Given the description of an element on the screen output the (x, y) to click on. 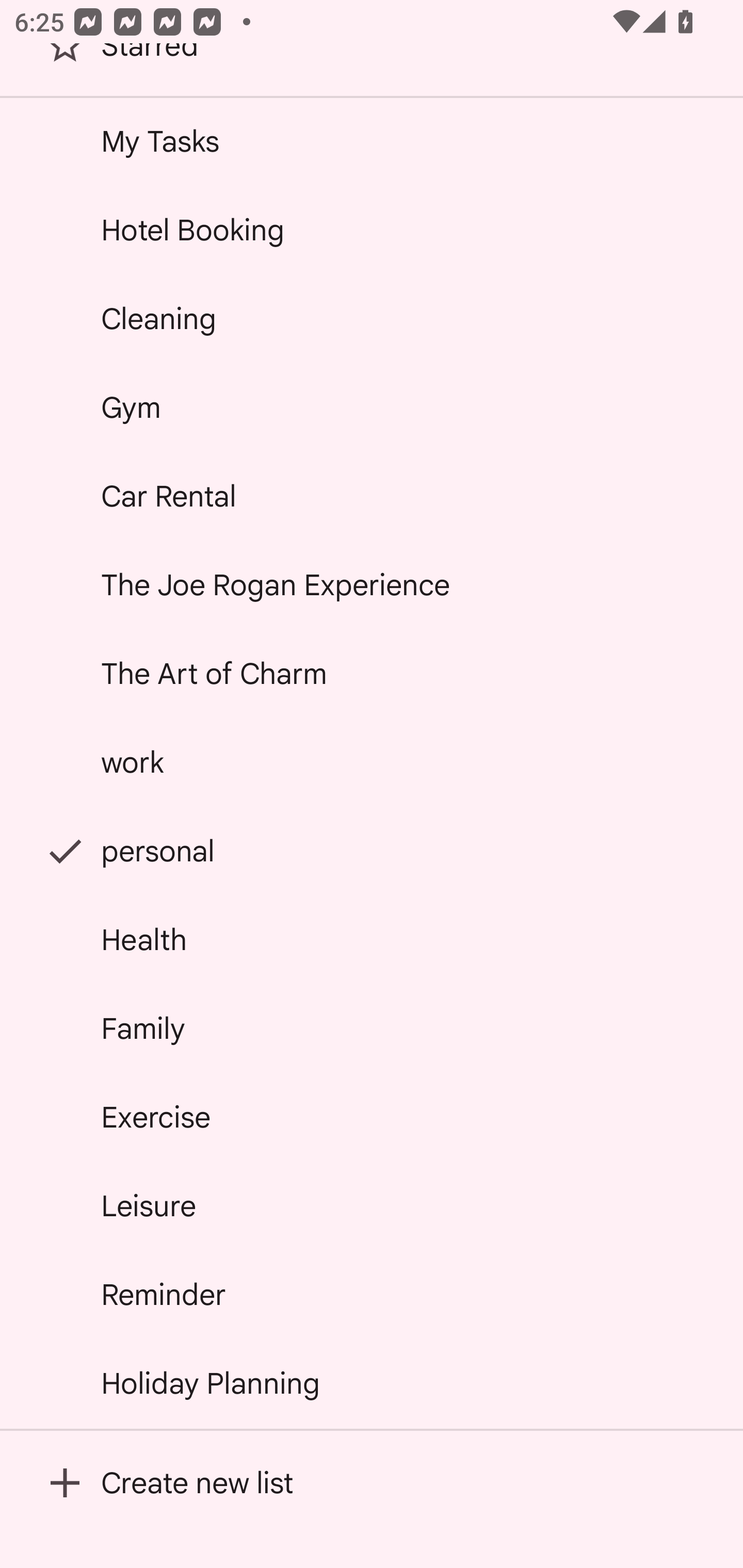
My Tasks (371, 141)
Hotel Booking (371, 229)
Cleaning (371, 318)
Gym (371, 407)
Car Rental (371, 496)
The Joe Rogan Experience (371, 584)
The Art of Charm (371, 673)
work (371, 762)
personal (371, 850)
Health (371, 939)
Family (371, 1028)
Exercise (371, 1117)
Leisure (371, 1205)
Reminder (371, 1294)
Holiday Planning (371, 1383)
Create new list (371, 1482)
